Given the description of an element on the screen output the (x, y) to click on. 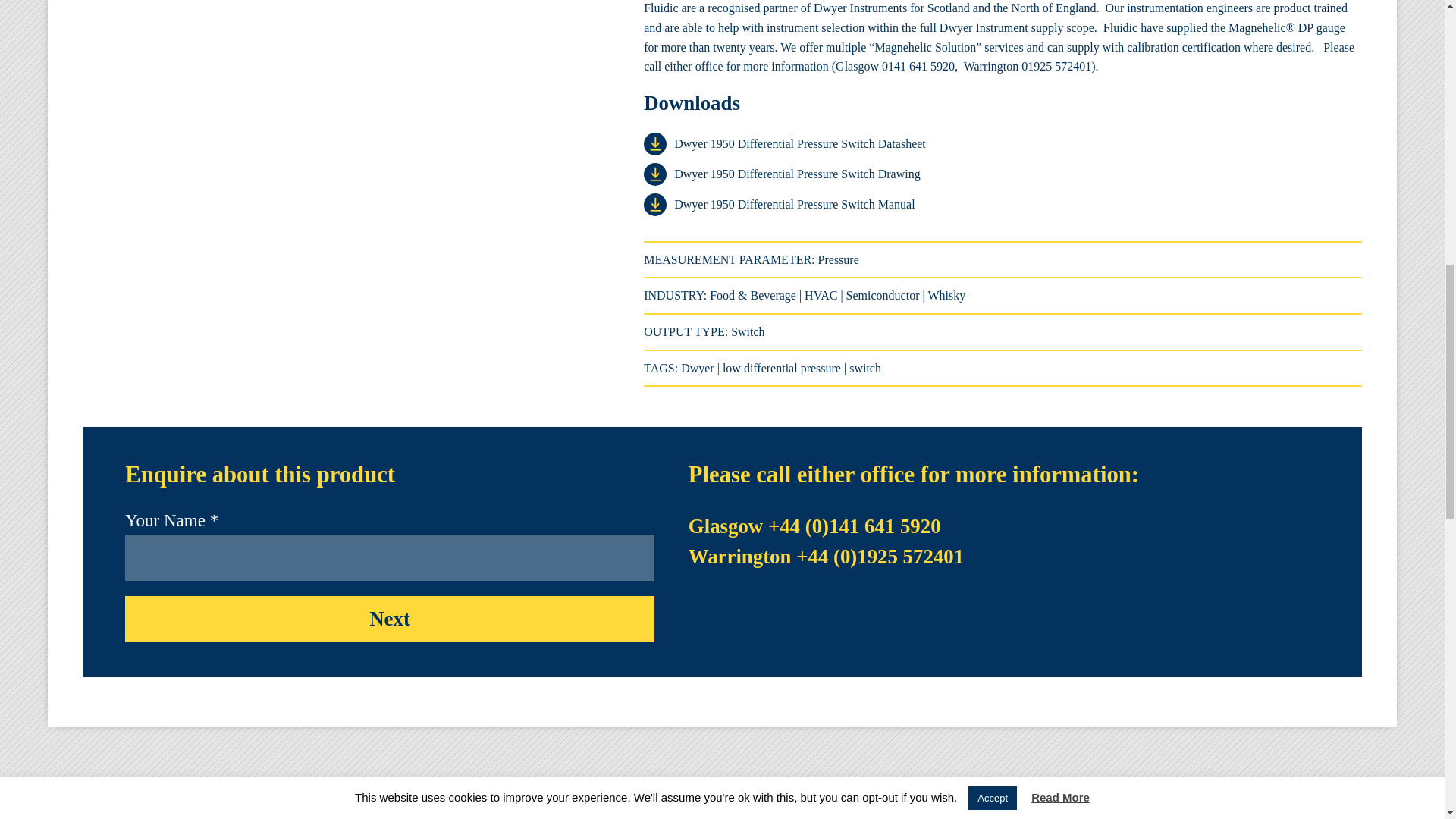
Whisky (946, 295)
Next (389, 619)
Switch (747, 331)
low differential pressure (781, 367)
Semiconductor (882, 295)
Dwyer (697, 367)
HVAC (821, 295)
Download (658, 204)
Pressure (838, 259)
Download (658, 173)
switch (864, 367)
Download (658, 143)
